Given the description of an element on the screen output the (x, y) to click on. 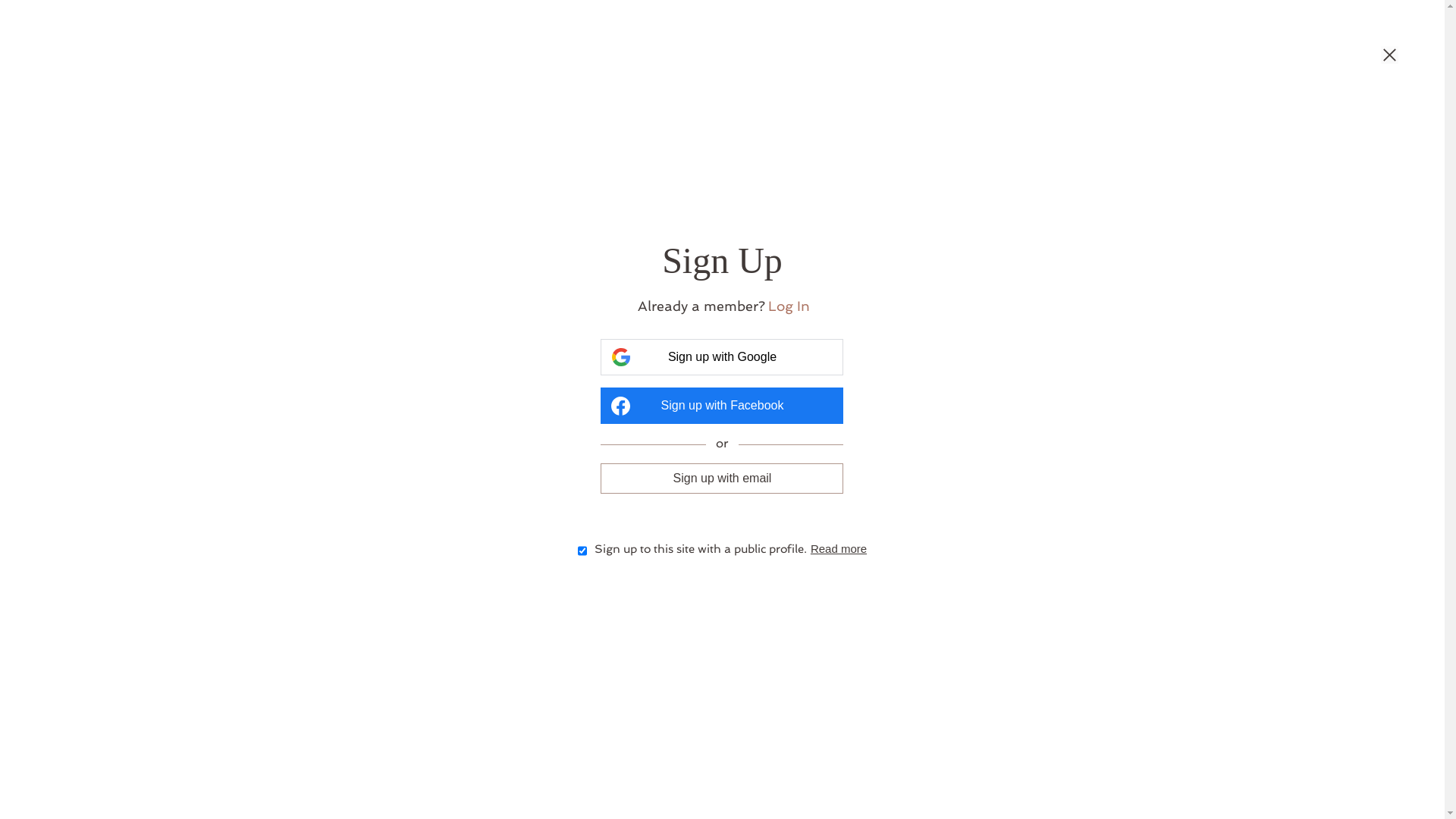
Sign up with email Element type: text (721, 478)
Sign up with Facebook Element type: text (721, 405)
Log In Element type: text (788, 305)
Read more Element type: text (838, 548)
Sign up with Google Element type: text (721, 356)
